Given the description of an element on the screen output the (x, y) to click on. 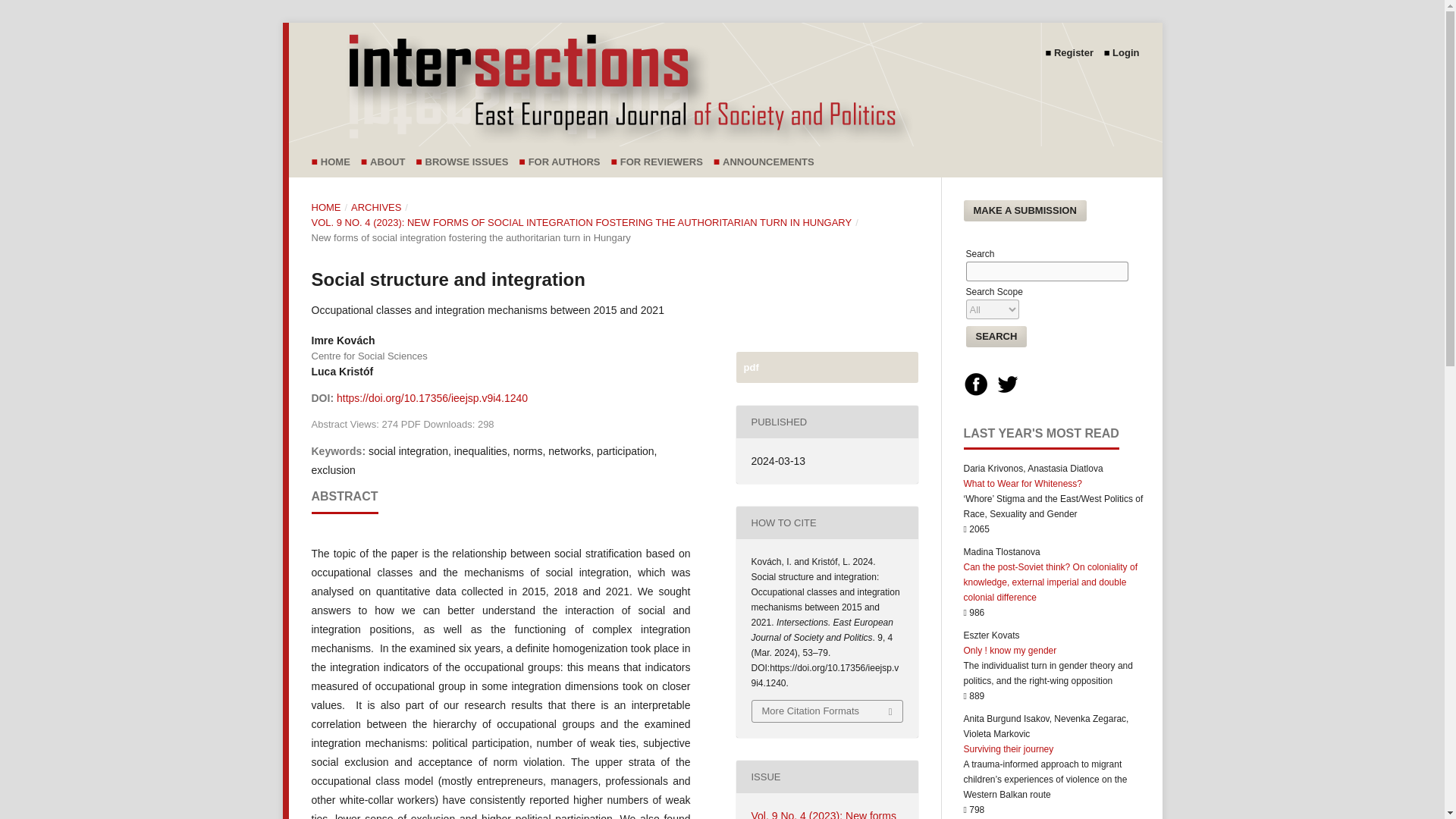
FOR REVIEWERS (665, 162)
ANNOUNCEMENTS (772, 162)
ieejsp facebook (974, 393)
ARCHIVES (375, 207)
BROWSE ISSUES (470, 162)
MAKE A SUBMISSION (1024, 210)
pdf (826, 367)
HOME (339, 162)
ABOUT (390, 162)
ieejsp twitter (1007, 393)
